Given the description of an element on the screen output the (x, y) to click on. 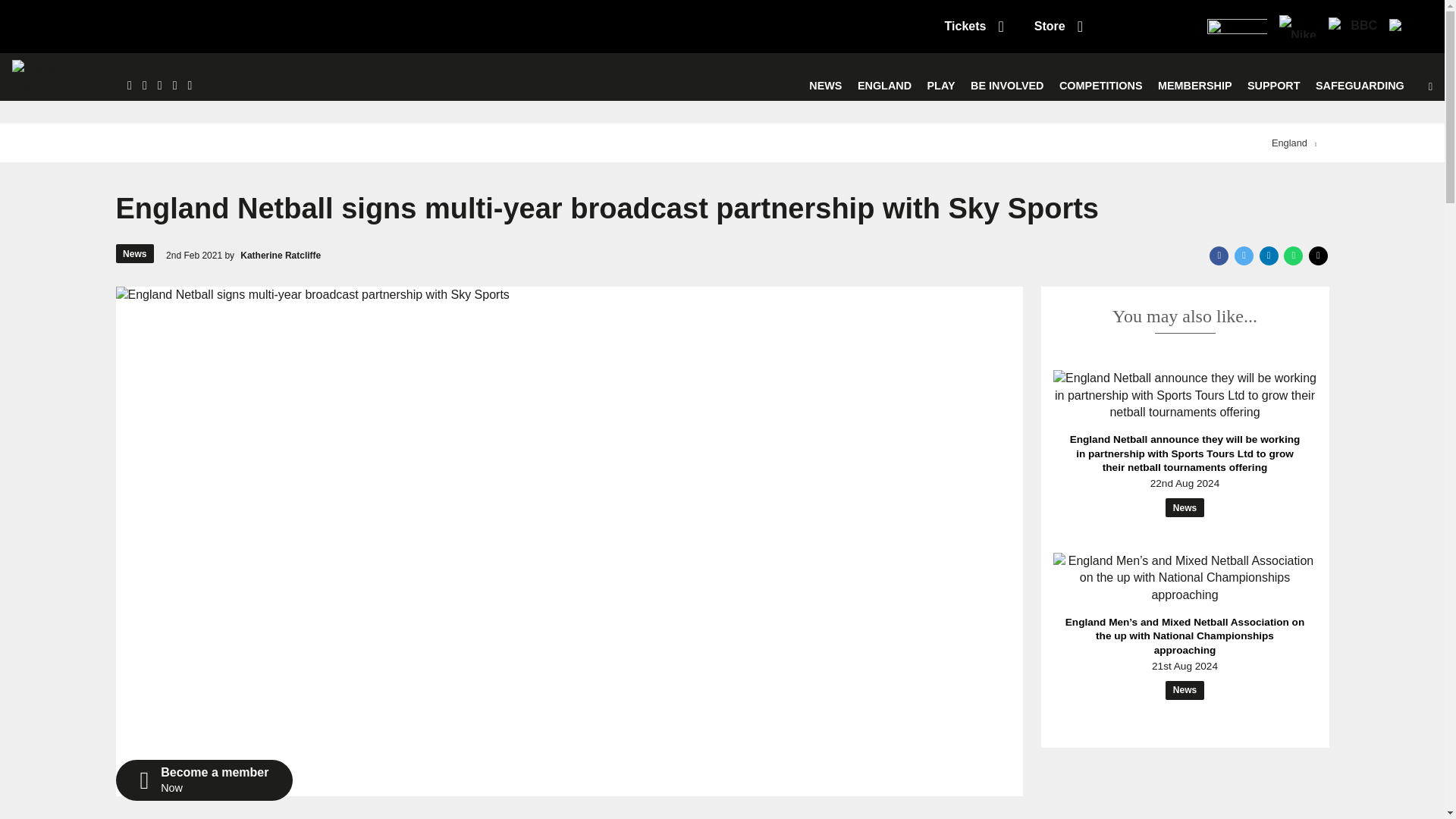
England Netball (57, 76)
Experience Kissime (1407, 25)
PLAY (941, 85)
Tickets (974, 25)
NEWS (825, 85)
Nike (1297, 25)
Tickets (974, 25)
BBC Sport (1352, 25)
Store (1058, 25)
BBC-Sport (1352, 26)
